Given the description of an element on the screen output the (x, y) to click on. 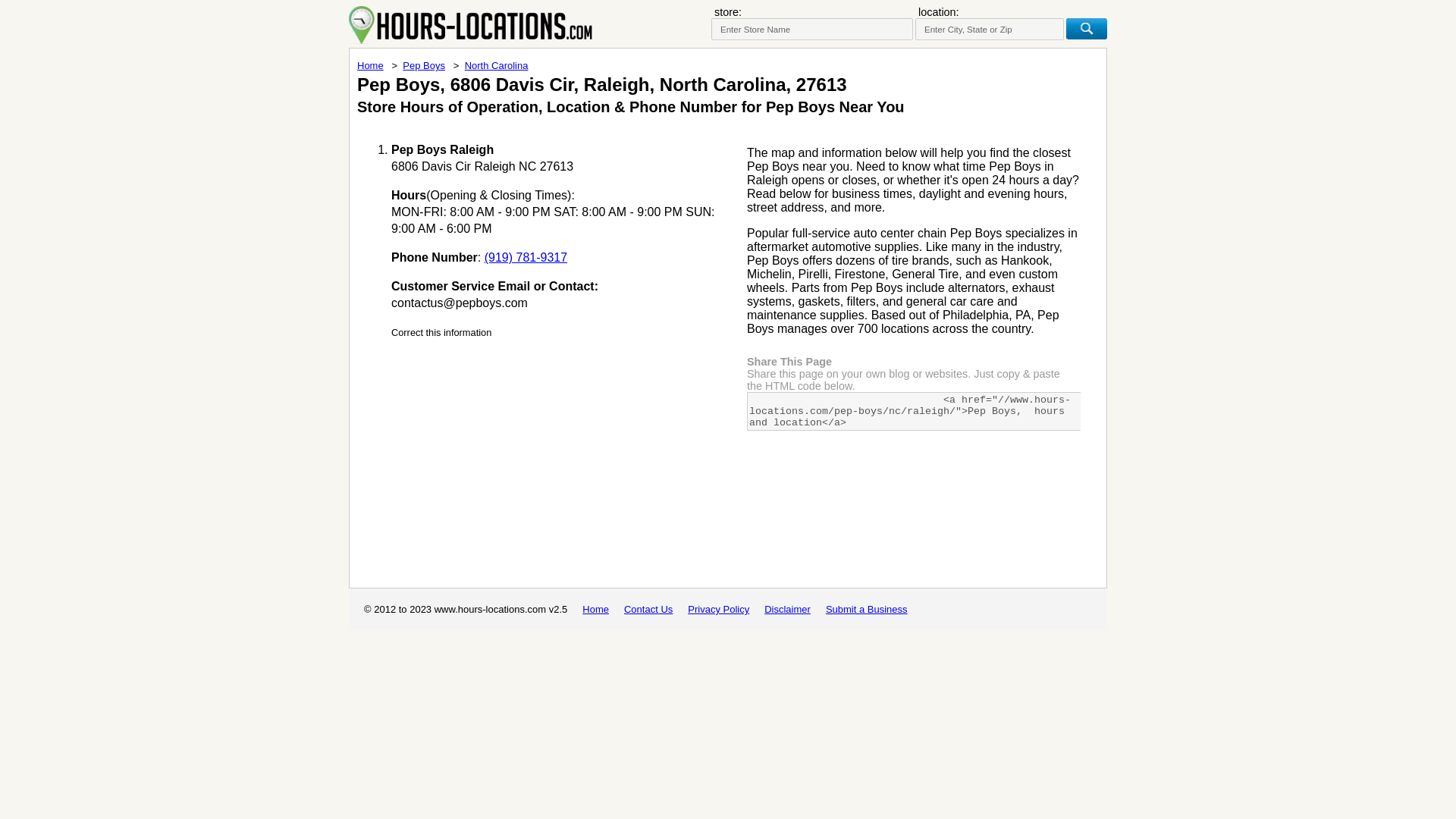
Home (370, 65)
Submit a Business (866, 609)
Home (595, 609)
Contact Us (648, 609)
North Carolina (496, 65)
Disclaimer (787, 609)
Pep Boys (424, 65)
Privacy Policy (718, 609)
Enter Store Name (811, 29)
Enter City, State or Zip (989, 29)
Correct this information (441, 332)
